Given the description of an element on the screen output the (x, y) to click on. 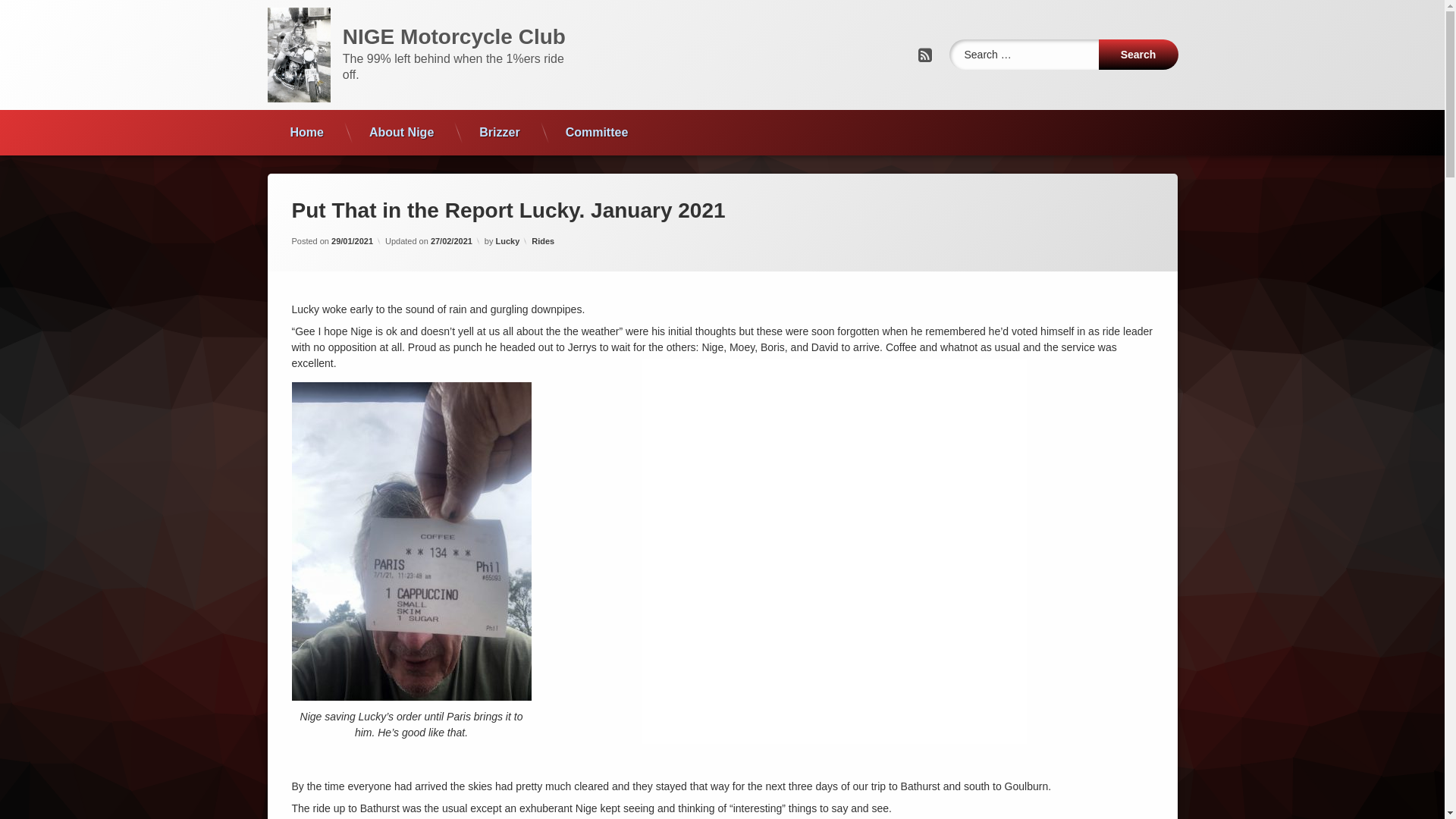
Committee Element type: text (596, 132)
About Nige Element type: text (401, 132)
Brizzer Element type: text (499, 132)
Rides Element type: text (542, 240)
Lucky Element type: text (507, 240)
Search Element type: text (1137, 54)
RSS Element type: text (924, 54)
29/01/2021 Element type: text (352, 240)
Home Element type: text (306, 132)
27/02/2021 Element type: text (451, 240)
